Given the description of an element on the screen output the (x, y) to click on. 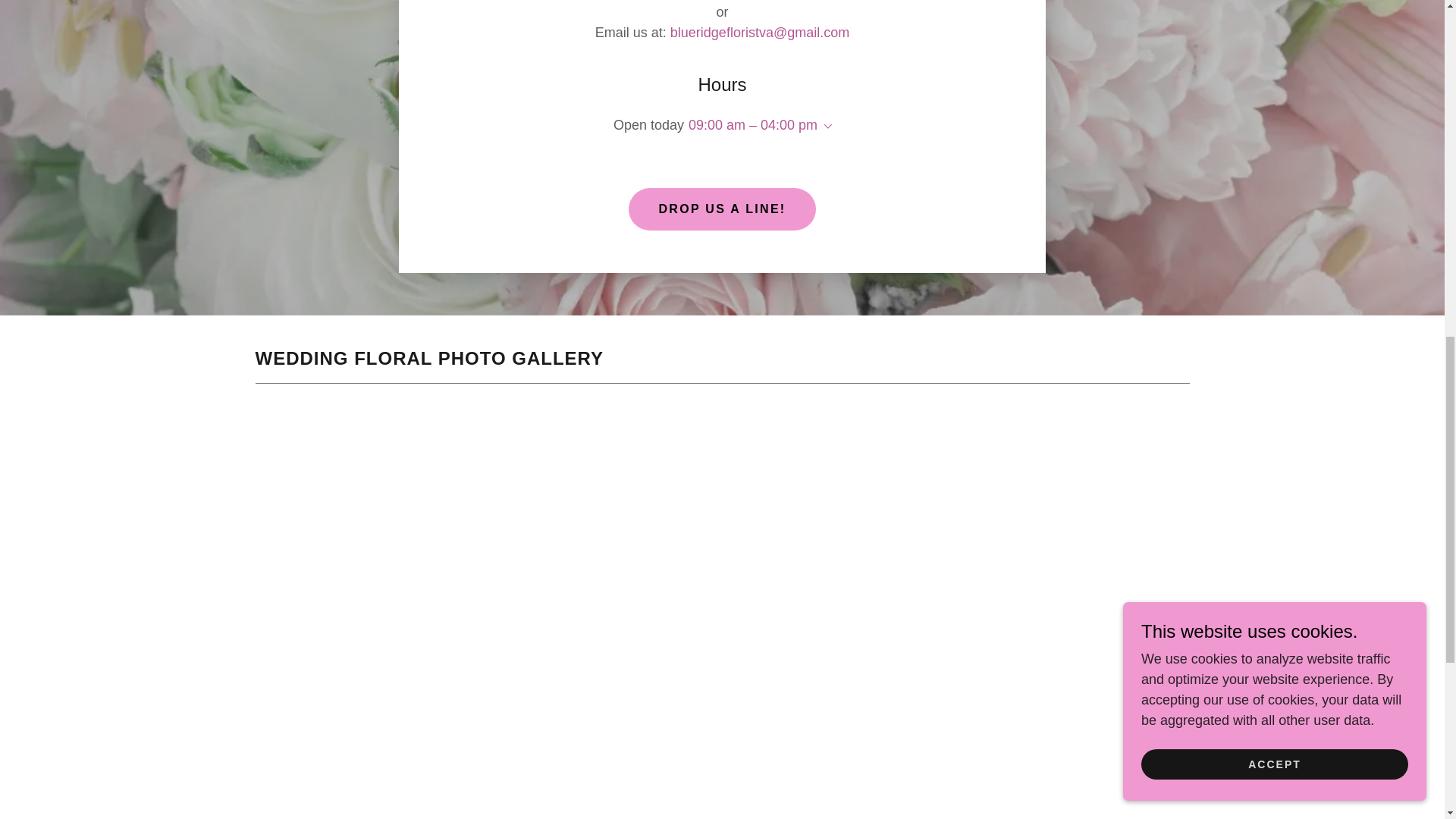
DROP US A LINE! (721, 209)
